Given the description of an element on the screen output the (x, y) to click on. 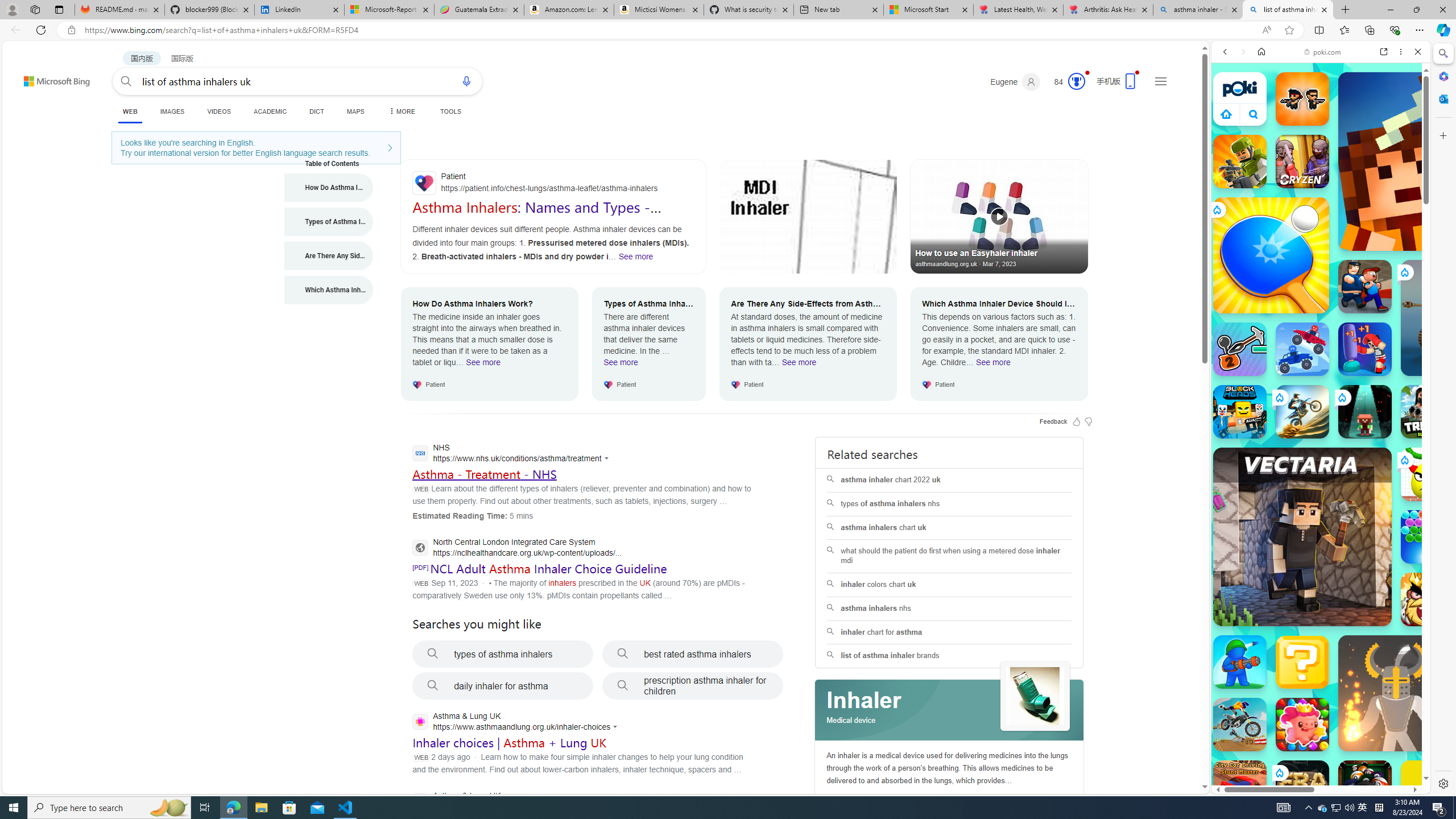
MORE (400, 111)
types of asthma inhalers nhs (949, 504)
Crazy Cars (1419, 574)
inhaler colors chart uk (949, 584)
Match Arena Match Arena (1302, 724)
Sports Games (1320, 378)
Bubble Shooter Bubble Shooter (1427, 536)
Blockheads (1239, 411)
Search results from poki.com (1299, 443)
Class: spl_logobg (949, 710)
Show More Io Games (1390, 351)
MAPS (355, 111)
Poki - Free Online Games - Play Now! (1315, 175)
